Given the description of an element on the screen output the (x, y) to click on. 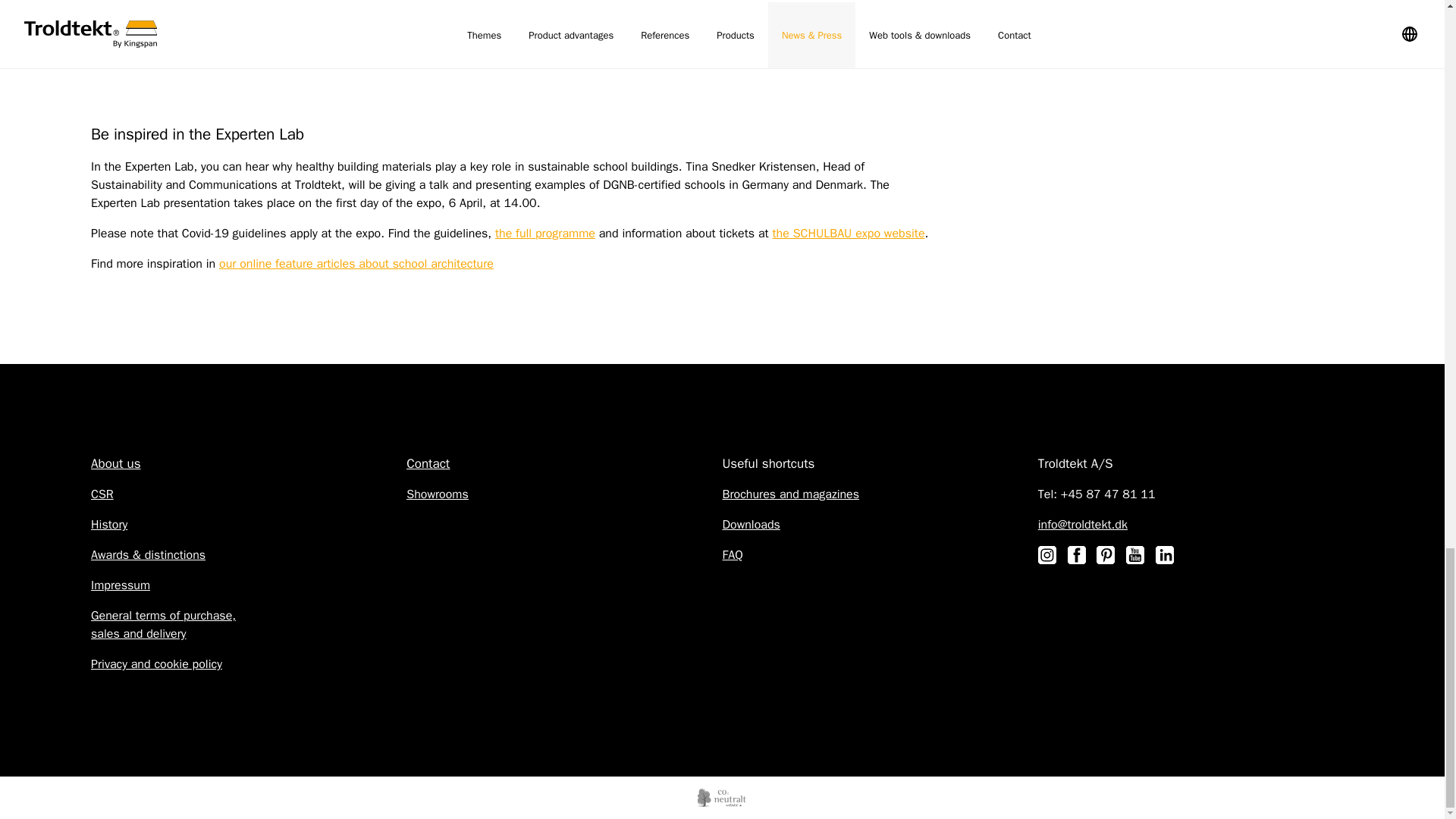
Historie (109, 524)
Salgs- og leveringsbetingelser (162, 624)
Data og cookiepolitik (156, 663)
Om os (115, 463)
Brochurer (790, 494)
Kontakt (427, 463)
CSR (101, 494)
Impressum (119, 585)
Priser og udmaerkelser (147, 554)
Download materialer (750, 524)
